Given the description of an element on the screen output the (x, y) to click on. 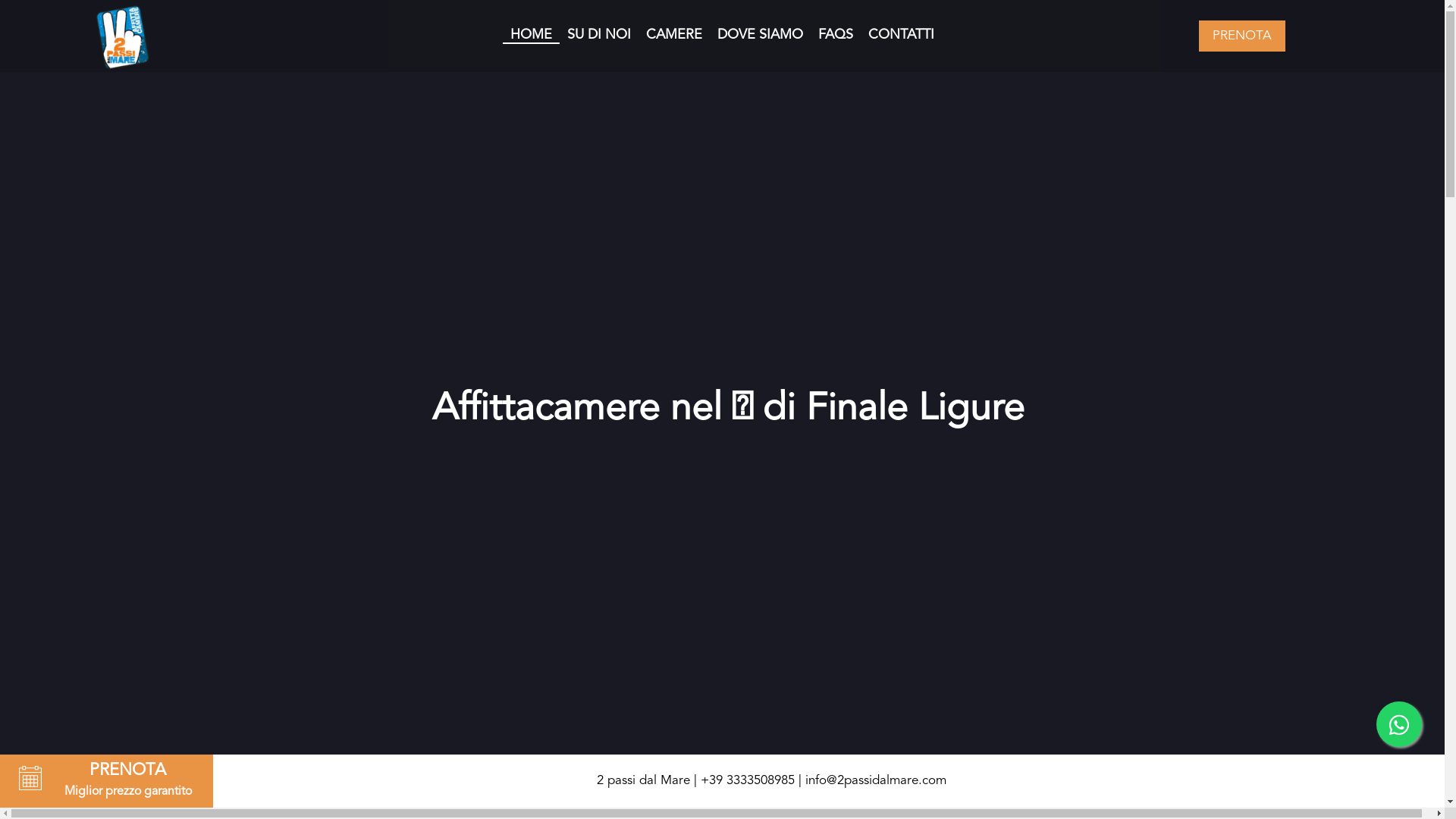
HOME Element type: text (531, 34)
PRENOTA Element type: text (1241, 35)
info@2passidalmare.com Element type: text (875, 780)
FAQS Element type: text (835, 34)
CAMERE Element type: text (674, 34)
CONTATTI Element type: text (901, 34)
SU DI NOI Element type: text (598, 34)
DOVE SIAMO Element type: text (760, 34)
+39 3333508985 Element type: text (747, 780)
PRENOTA
Miglior prezzo garantito Element type: text (106, 780)
